Given the description of an element on the screen output the (x, y) to click on. 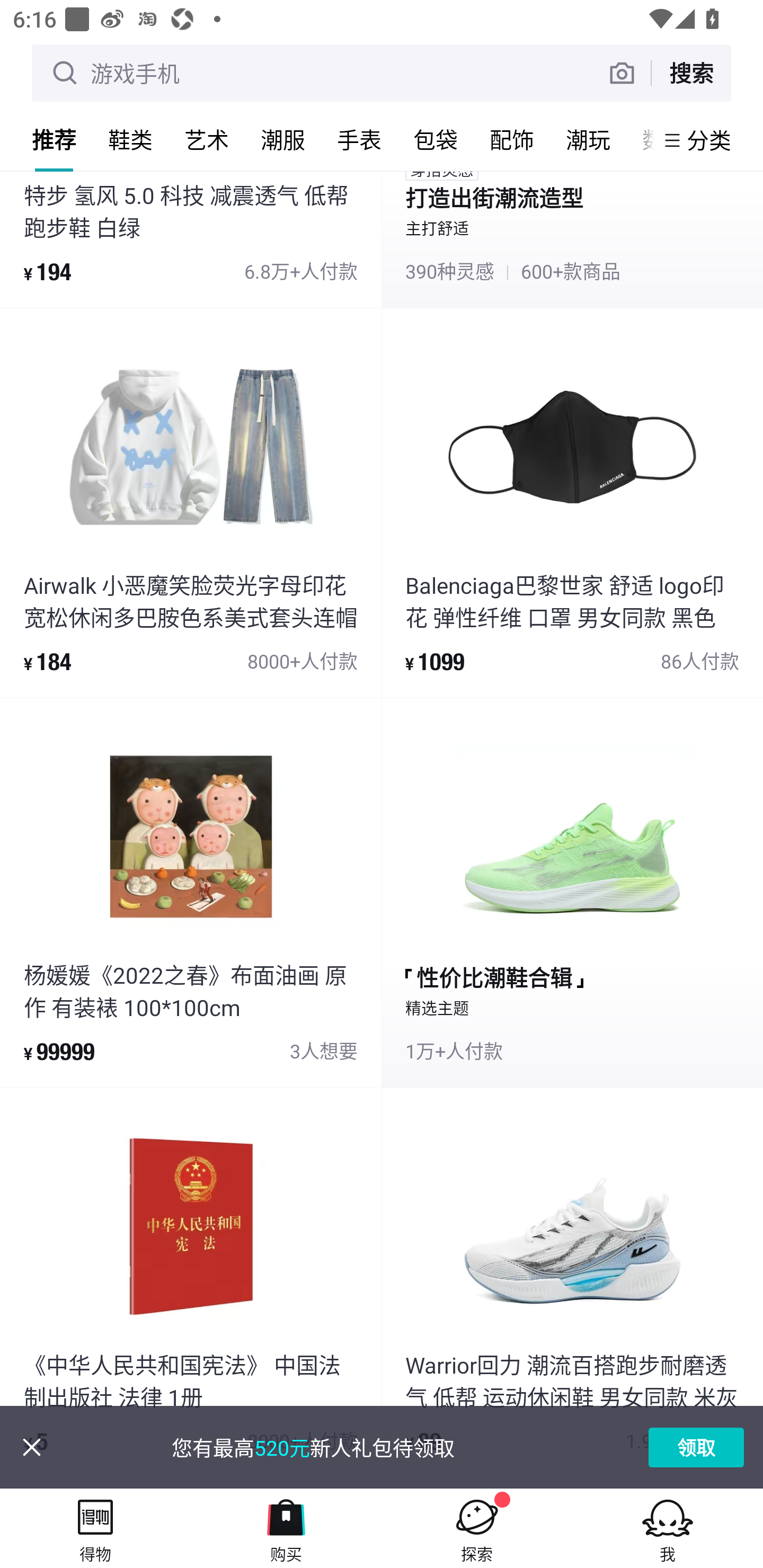
搜索 (690, 72)
推荐 (54, 139)
鞋类 (130, 139)
艺术 (206, 139)
潮服 (282, 139)
手表 (359, 139)
包袋 (435, 139)
配饰 (511, 139)
潮玩 (588, 139)
分类 (708, 139)
穿搭灵感 打造出街潮流造型 主打舒适 390种灵感 # 600+款商品 (572, 238)
性价比潮鞋合辑 精选主题 1万+人付款 (572, 892)
领取 (695, 1446)
得物 (95, 1528)
购买 (285, 1528)
探索 (476, 1528)
我 (667, 1528)
